Given the description of an element on the screen output the (x, y) to click on. 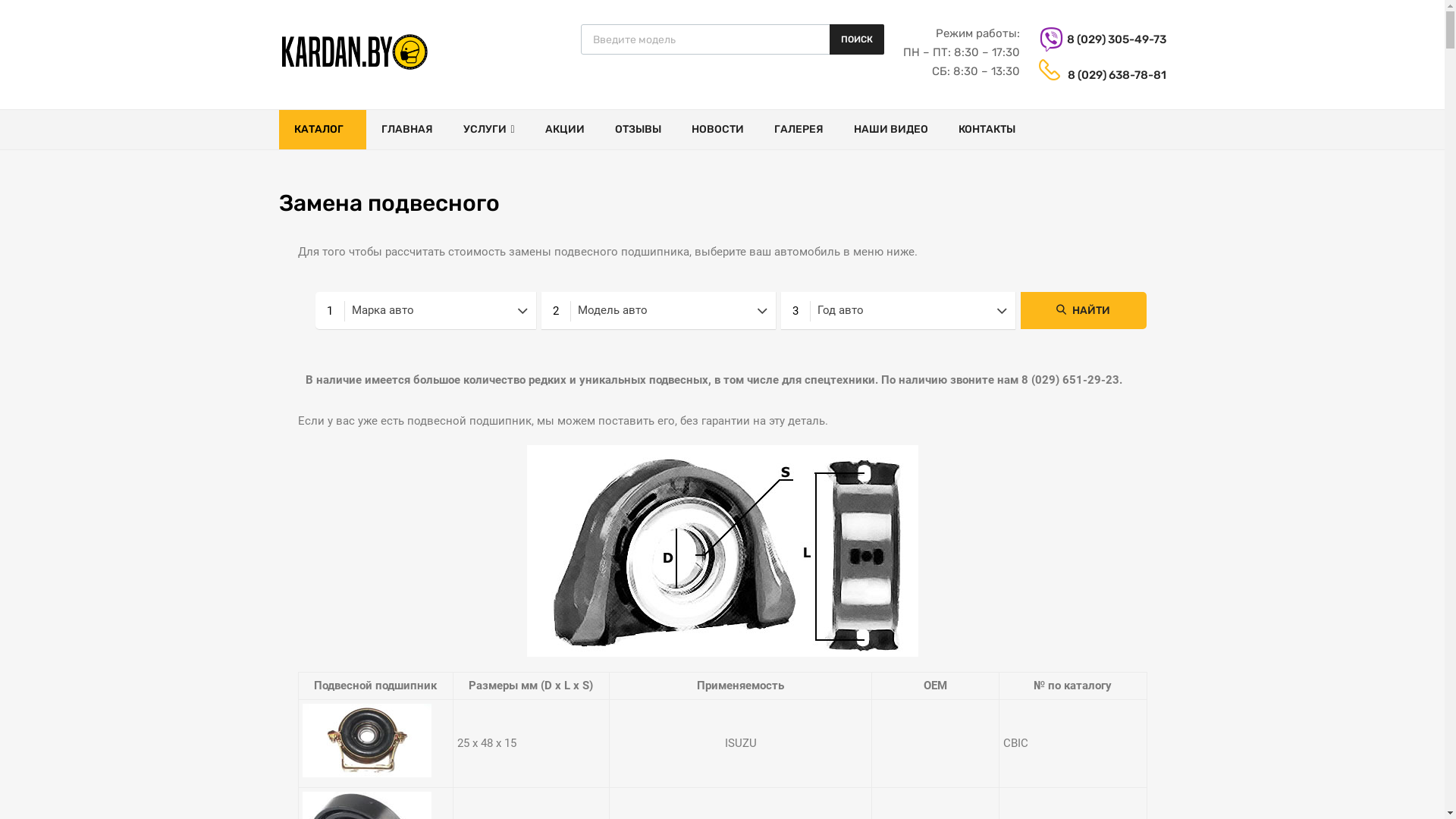
Kardan.by Element type: hover (354, 70)
8 (029) 638-78-81 Element type: text (1104, 74)
